Given the description of an element on the screen output the (x, y) to click on. 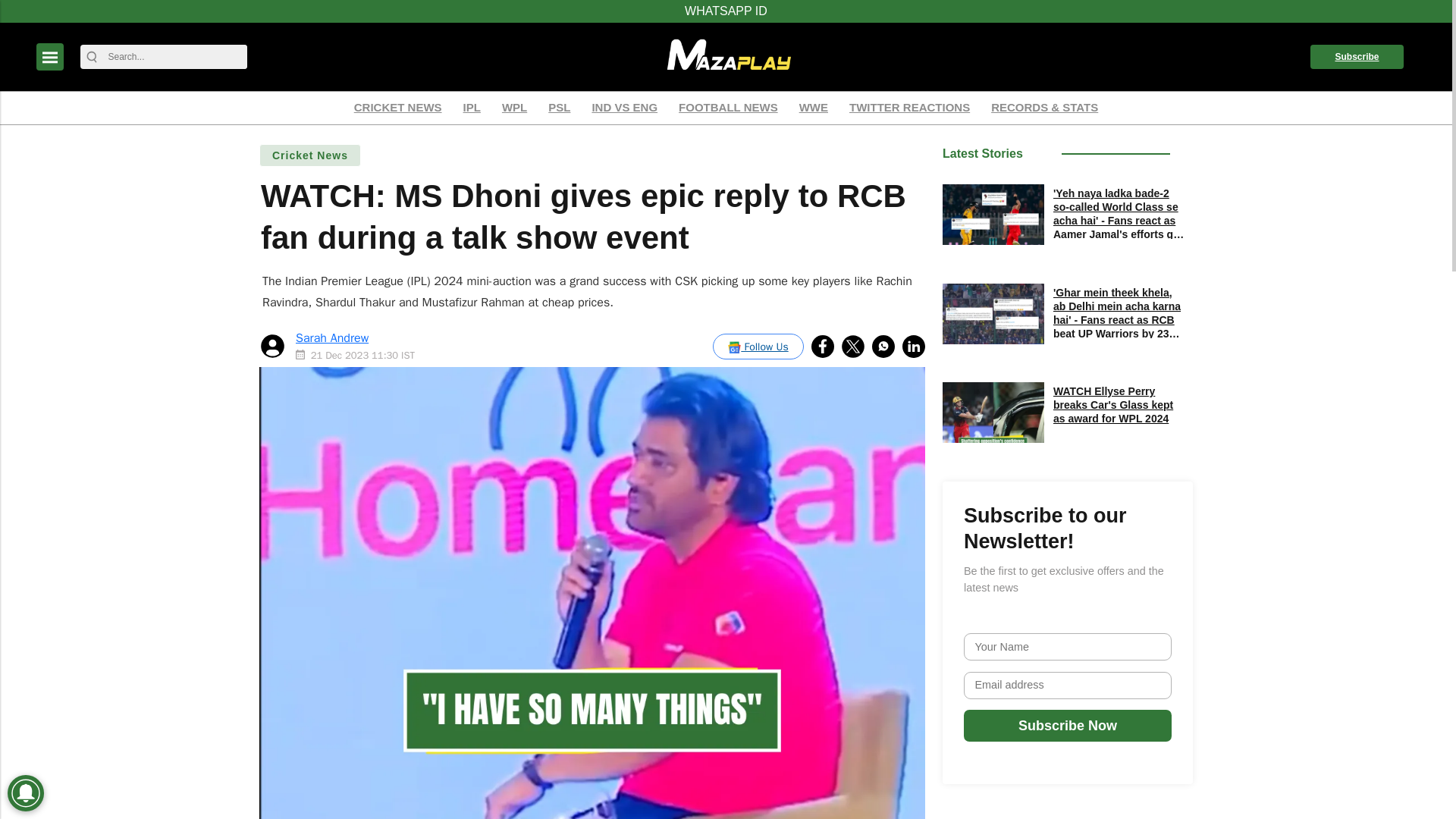
IND VS ENG (624, 107)
TWITTER REACTIONS (909, 107)
Sarah Andrew (331, 337)
Subscribe (1356, 56)
WWE (812, 107)
WPL (514, 107)
PSL (559, 107)
FOOTBALL NEWS (727, 107)
CRICKET NEWS (397, 107)
Cricket News (310, 155)
Follow Us (758, 346)
